Given the description of an element on the screen output the (x, y) to click on. 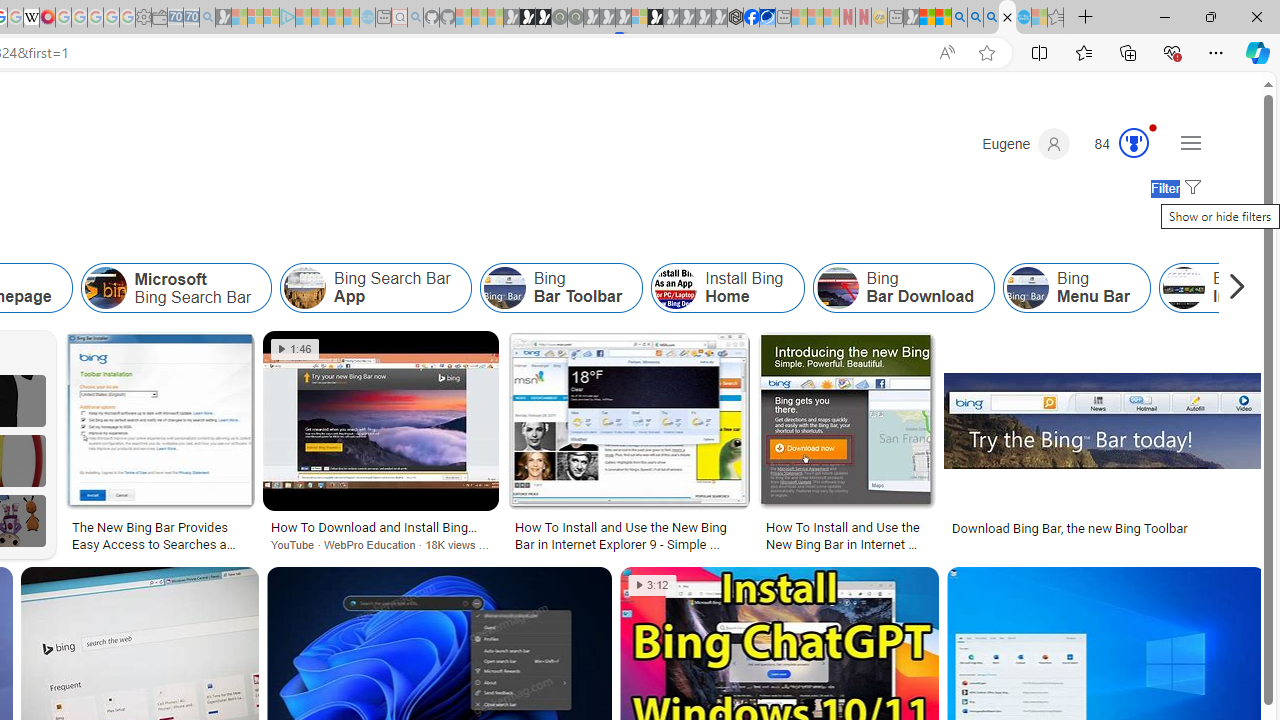
Settings - Sleeping (143, 17)
Favorites - Sleeping (1055, 17)
Bing Search Bar Install - Search Images (1007, 17)
MediaWiki (47, 17)
